Given the description of an element on the screen output the (x, y) to click on. 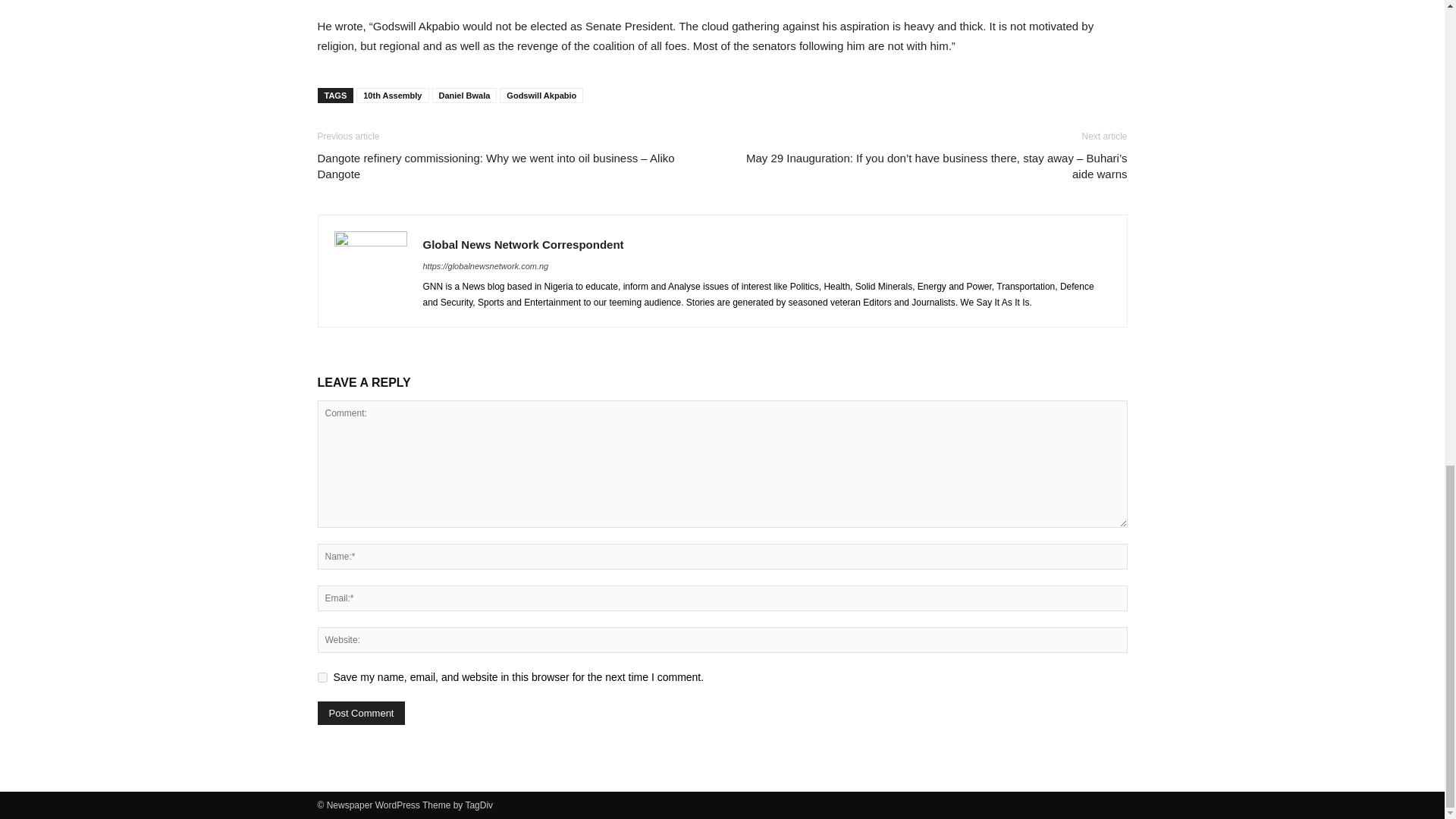
10th Assembly (392, 95)
Godswill Akpabio (541, 95)
Global News Network Correspondent (523, 244)
Post Comment (360, 712)
yes (321, 677)
Daniel Bwala (464, 95)
Post Comment (360, 712)
